Given the description of an element on the screen output the (x, y) to click on. 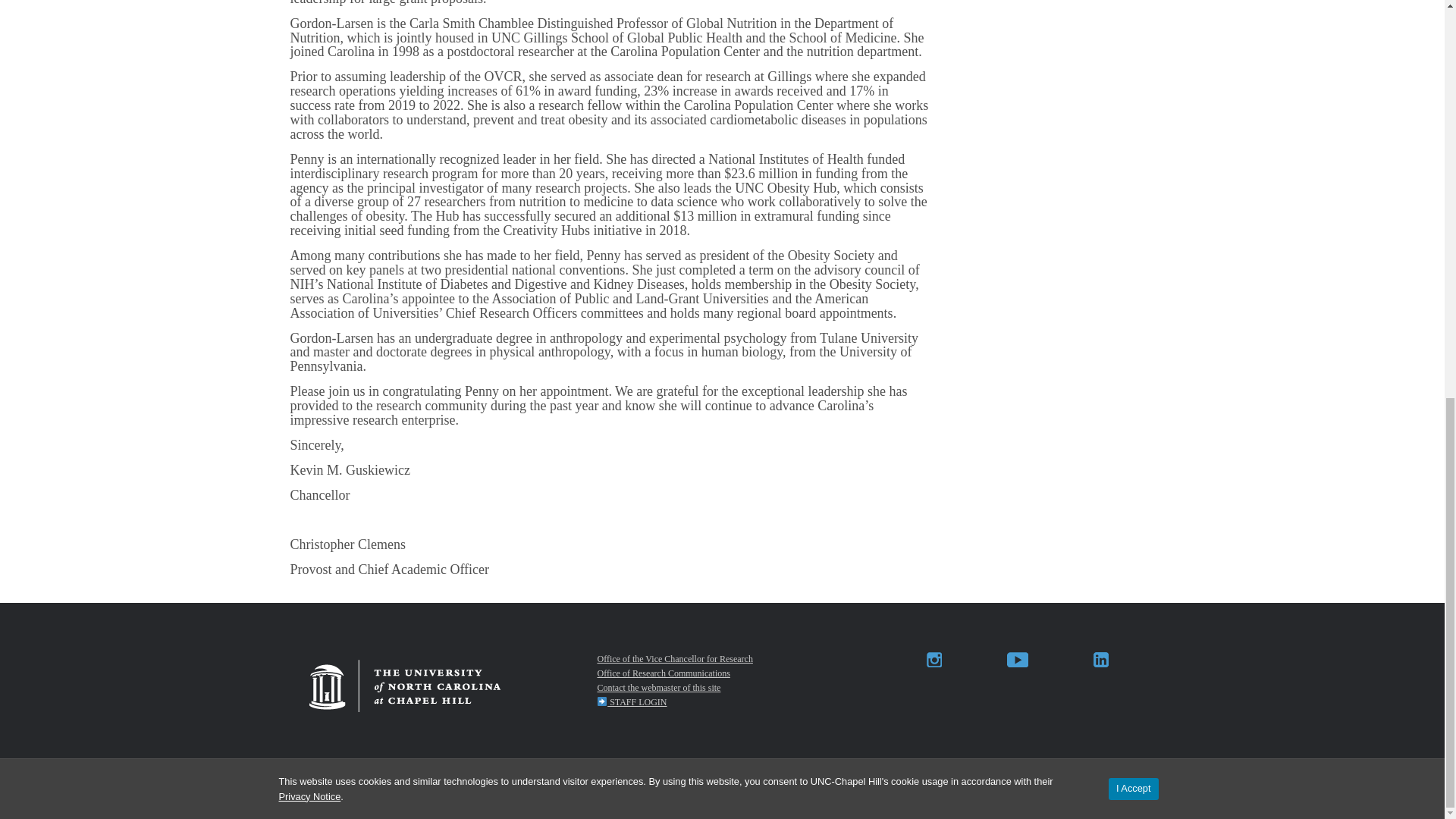
Office of the Vice Chancellor for Research (674, 658)
STAFF LOGIN (631, 701)
Office of Research Communications (662, 673)
Privacy Notice (309, 21)
I Accept (1133, 14)
Contact the webmaster of this site (658, 687)
